Given the description of an element on the screen output the (x, y) to click on. 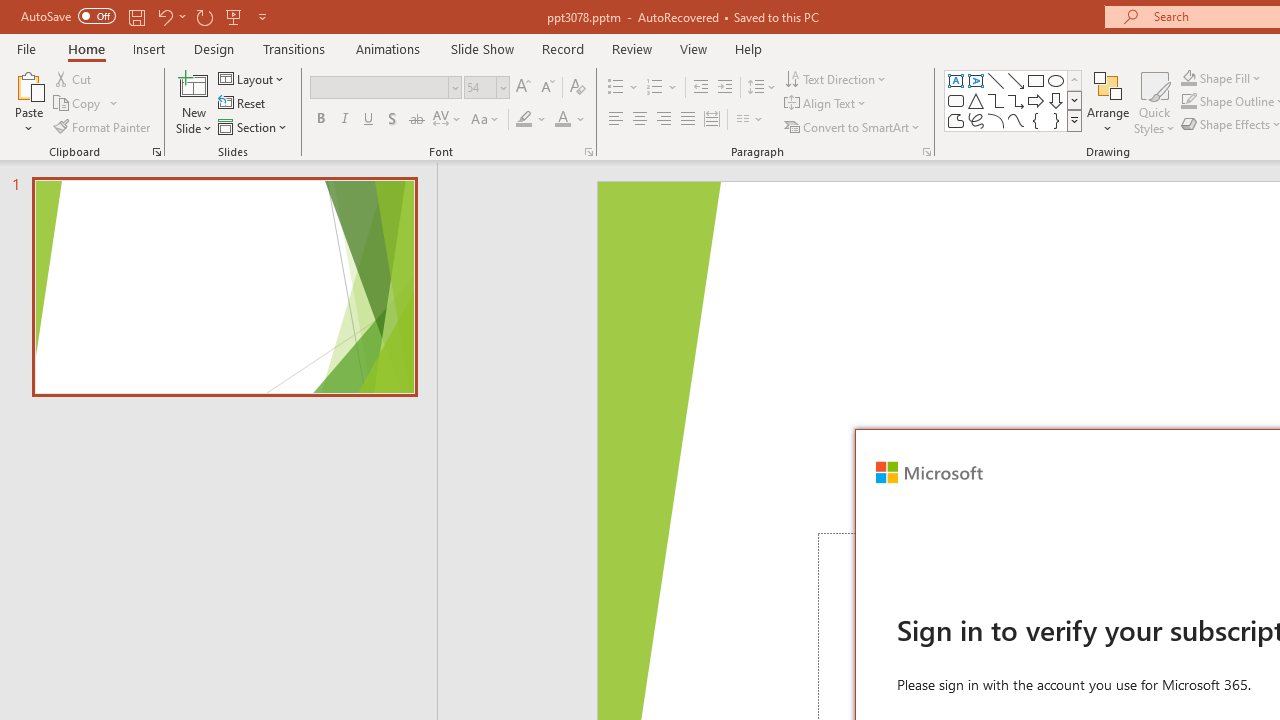
Right Brace (1055, 120)
Connector: Elbow (995, 100)
Section (254, 126)
Character Spacing (447, 119)
